Given the description of an element on the screen output the (x, y) to click on. 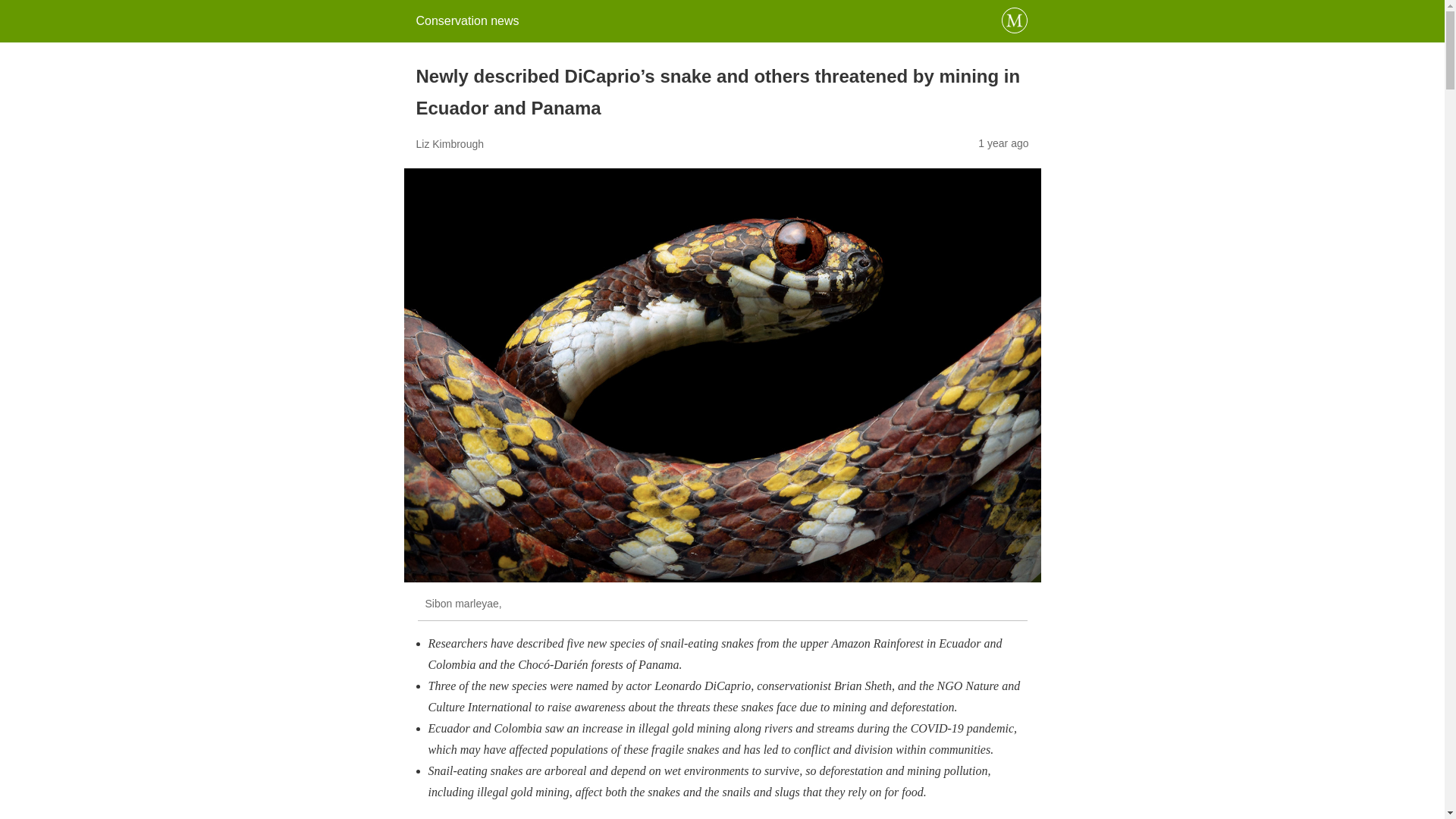
Conservation news (466, 20)
